Given the description of an element on the screen output the (x, y) to click on. 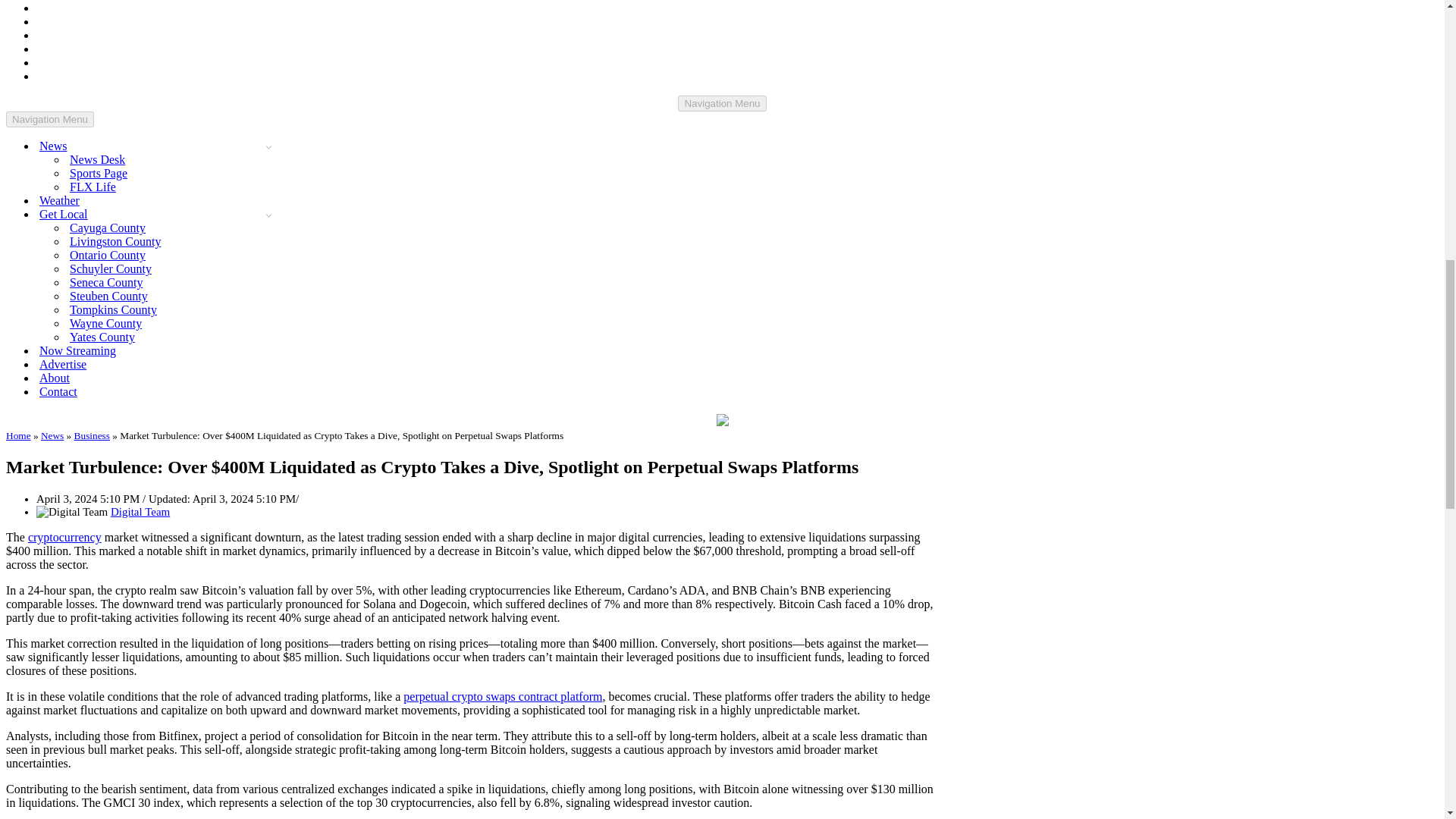
Posts by Digital Team (140, 511)
Navigation Menu (721, 103)
